Given the description of an element on the screen output the (x, y) to click on. 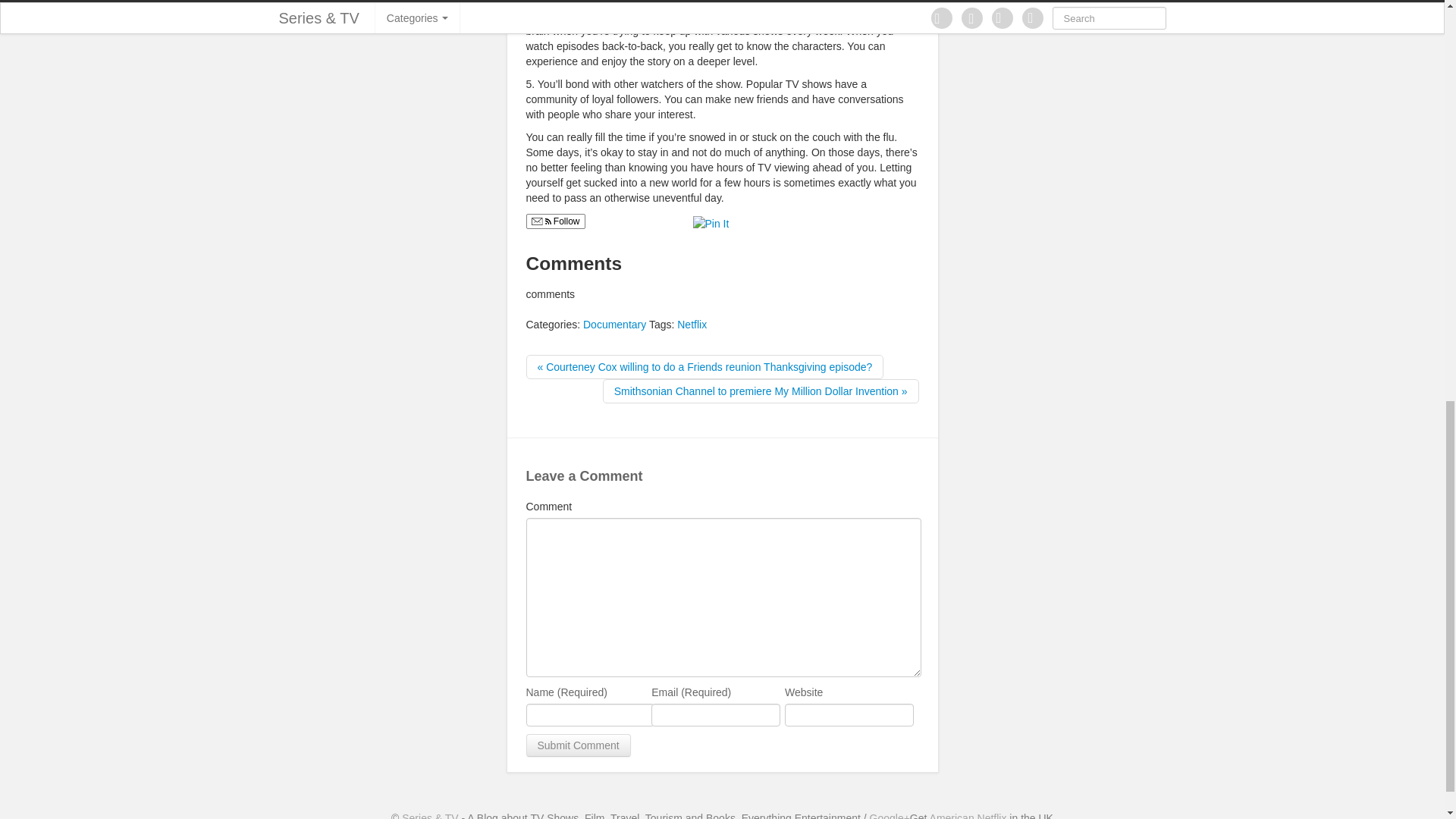
Share on Tumblr (791, 222)
Email, RSS (540, 222)
Netflix (691, 324)
Submit Comment (577, 744)
Submit Comment (577, 744)
Documentary (614, 324)
Share on Tumblr (791, 222)
Follow (555, 221)
Home (429, 815)
